Given the description of an element on the screen output the (x, y) to click on. 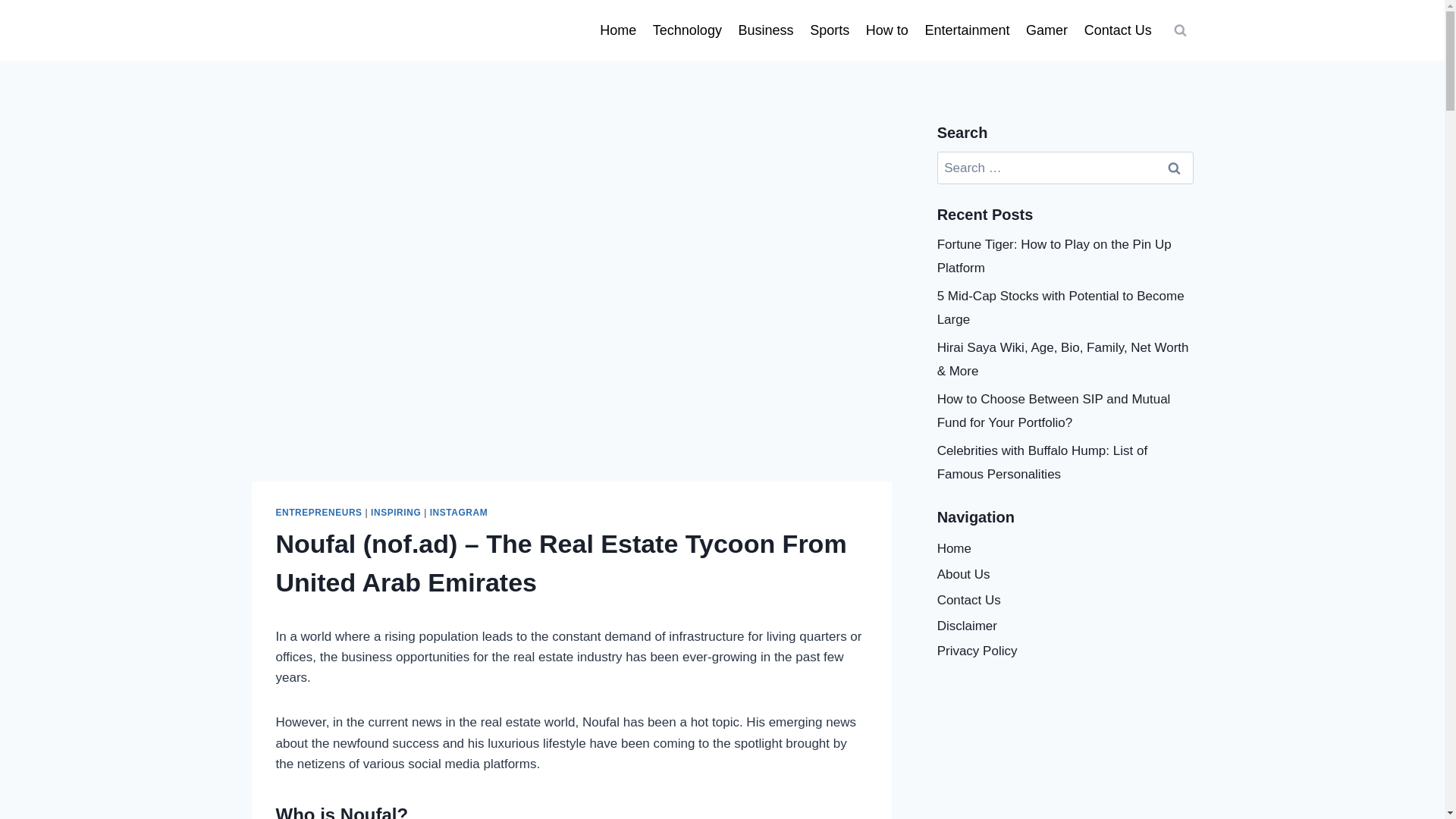
How to (887, 30)
DMCA.com Protection Status (1065, 740)
Contact Us (1117, 30)
Business (766, 30)
INSTAGRAM (458, 511)
Search (1174, 167)
INSPIRING (395, 511)
Home (618, 30)
ENTREPRENEURS (319, 511)
Technology (687, 30)
Gamer (1046, 30)
Search (1174, 167)
Sports (829, 30)
Entertainment (967, 30)
